Given the description of an element on the screen output the (x, y) to click on. 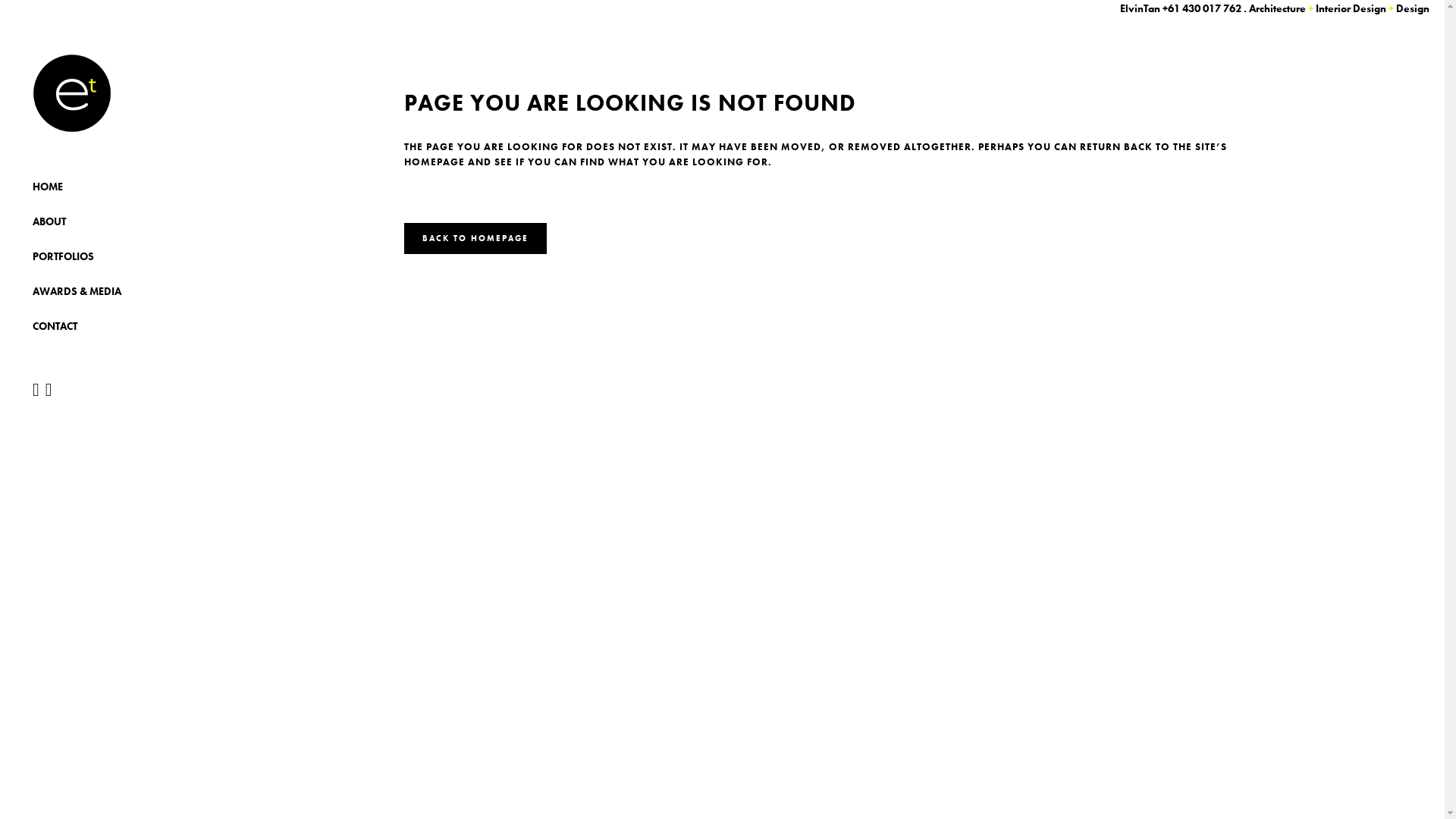
BACK TO HOMEPAGE Element type: text (474, 238)
CONTACT Element type: text (107, 325)
ABOUT Element type: text (107, 220)
PORTFOLIOS Element type: text (107, 255)
AWARDS & MEDIA Element type: text (107, 290)
HOME Element type: text (107, 186)
+61 430 017 762 Element type: text (1201, 8)
